Given the description of an element on the screen output the (x, y) to click on. 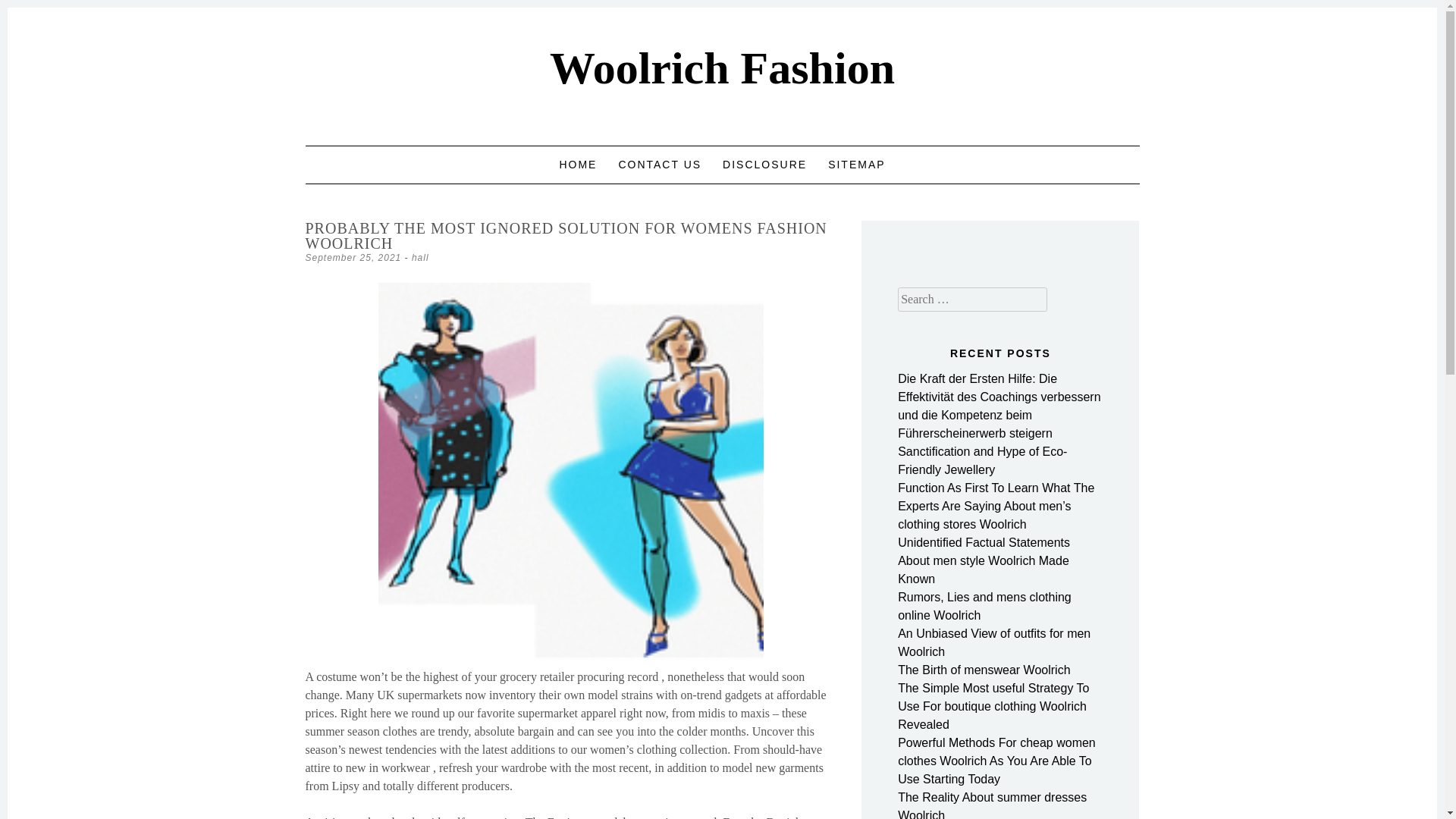
SITEMAP (856, 164)
September 25, 2021 (352, 257)
HOME (577, 164)
DISCLOSURE (764, 164)
Woolrich Fashion (722, 68)
The Birth of menswear Woolrich (984, 669)
Search (29, 12)
hall (420, 257)
An Unbiased View of outfits for men Woolrich (994, 642)
Sanctification and Hype of Eco-Friendly Jewellery (982, 460)
CONTACT US (659, 164)
Rumors, Lies and mens clothing online Woolrich (984, 605)
